Given the description of an element on the screen output the (x, y) to click on. 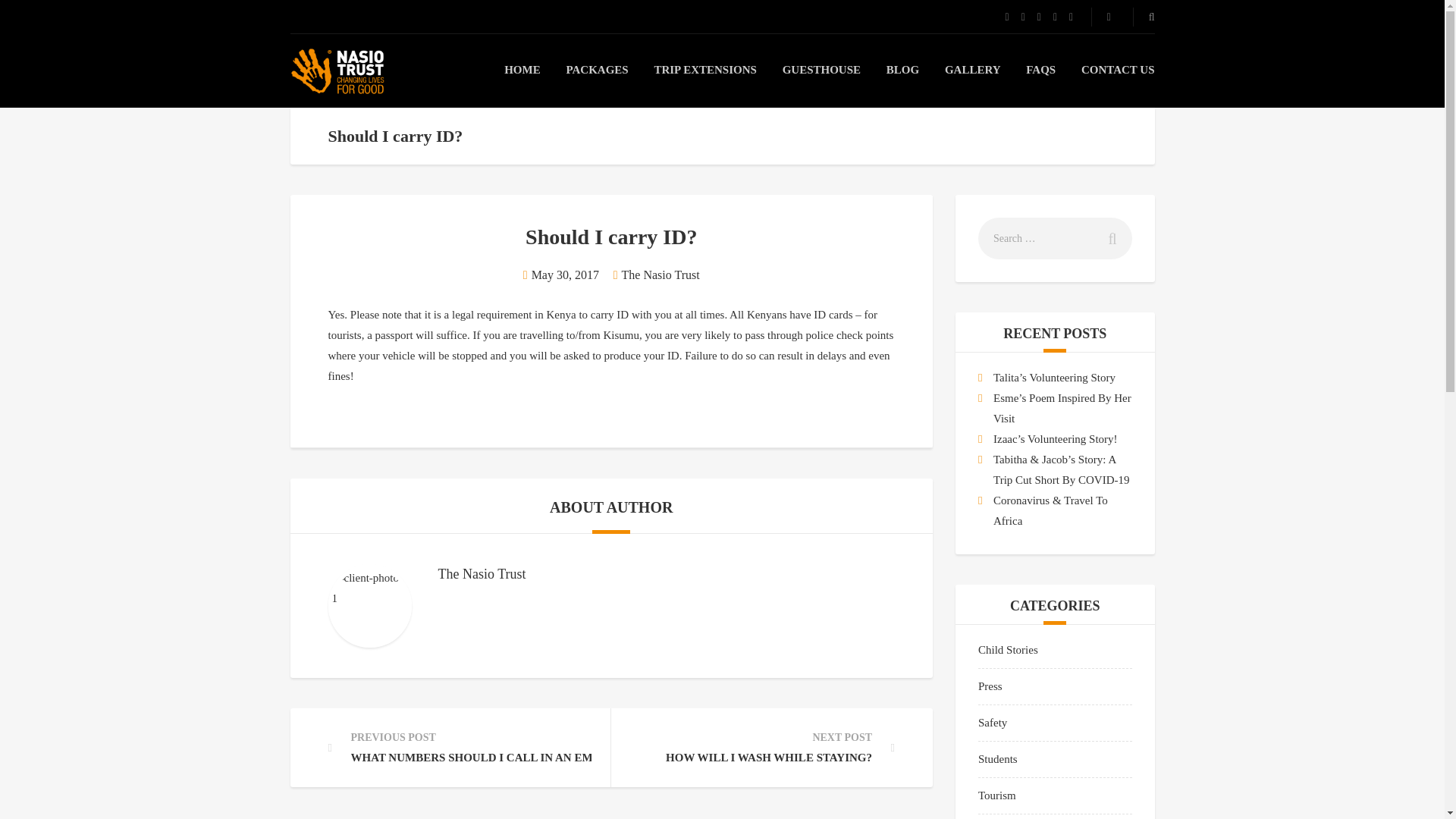
GALLERY (972, 69)
PACKAGES (596, 69)
TRIP EXTENSIONS (704, 69)
Safety (992, 722)
The Nasio Trust (660, 274)
Child Stories (1008, 649)
HOME (521, 69)
Tourism (997, 795)
Search (1106, 238)
BLOG (902, 69)
